Given the description of an element on the screen output the (x, y) to click on. 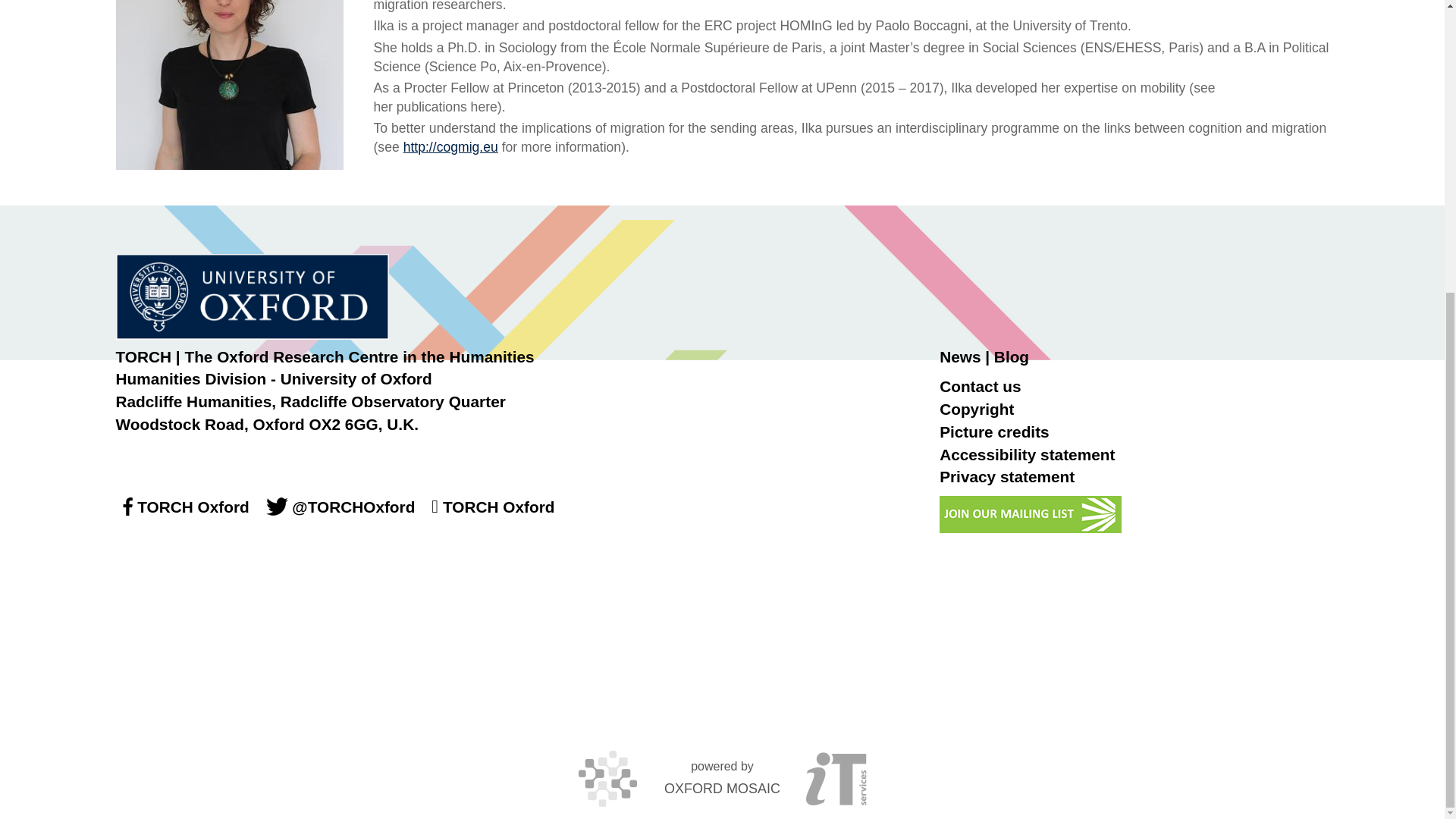
News (959, 356)
Blog (1011, 356)
Ilka big2x (228, 84)
Oxford logo (251, 296)
Facebook (126, 506)
Twitter (277, 506)
Maillist button (1030, 514)
